Given the description of an element on the screen output the (x, y) to click on. 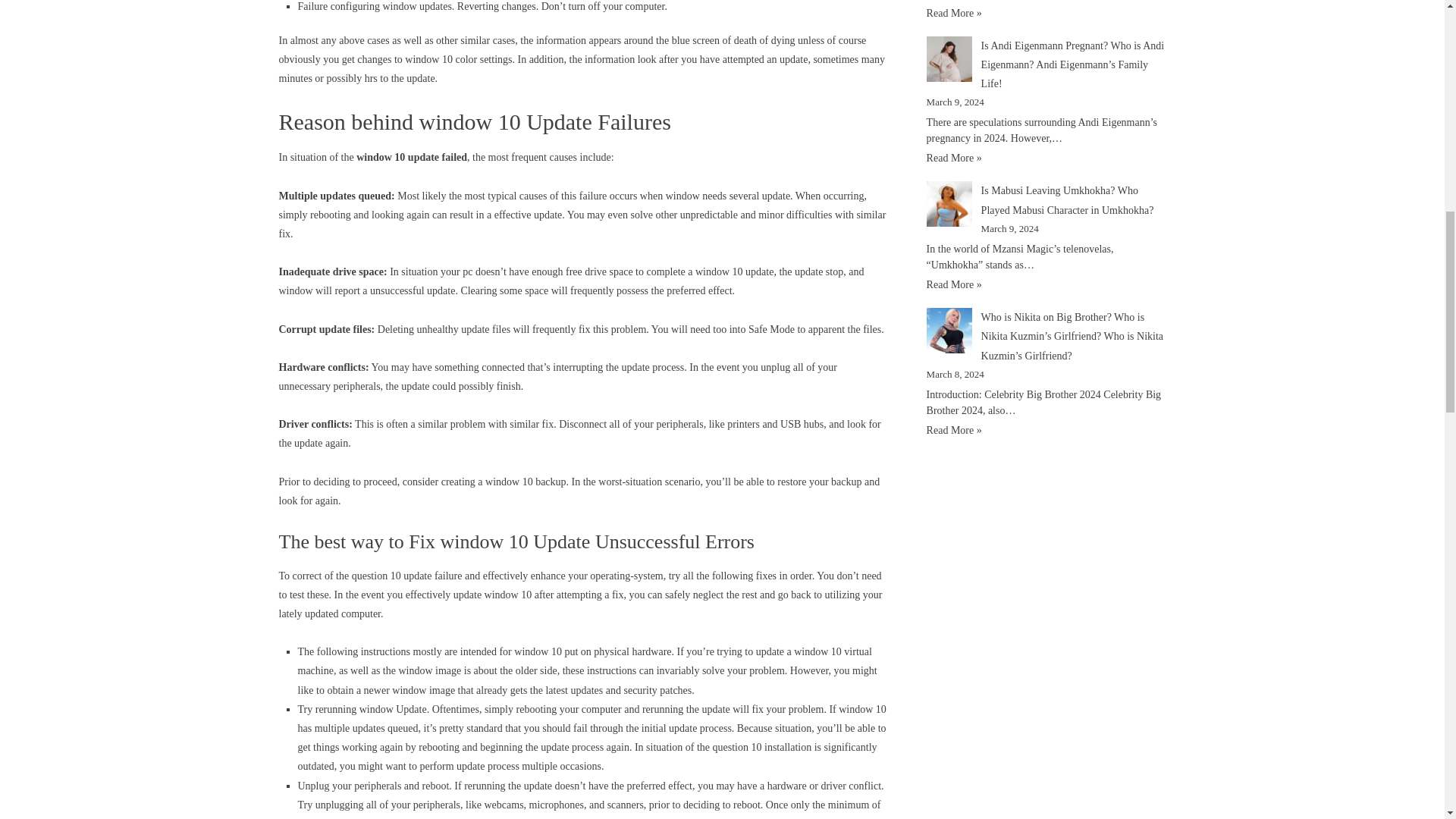
window 10 update failed (411, 156)
